Given the description of an element on the screen output the (x, y) to click on. 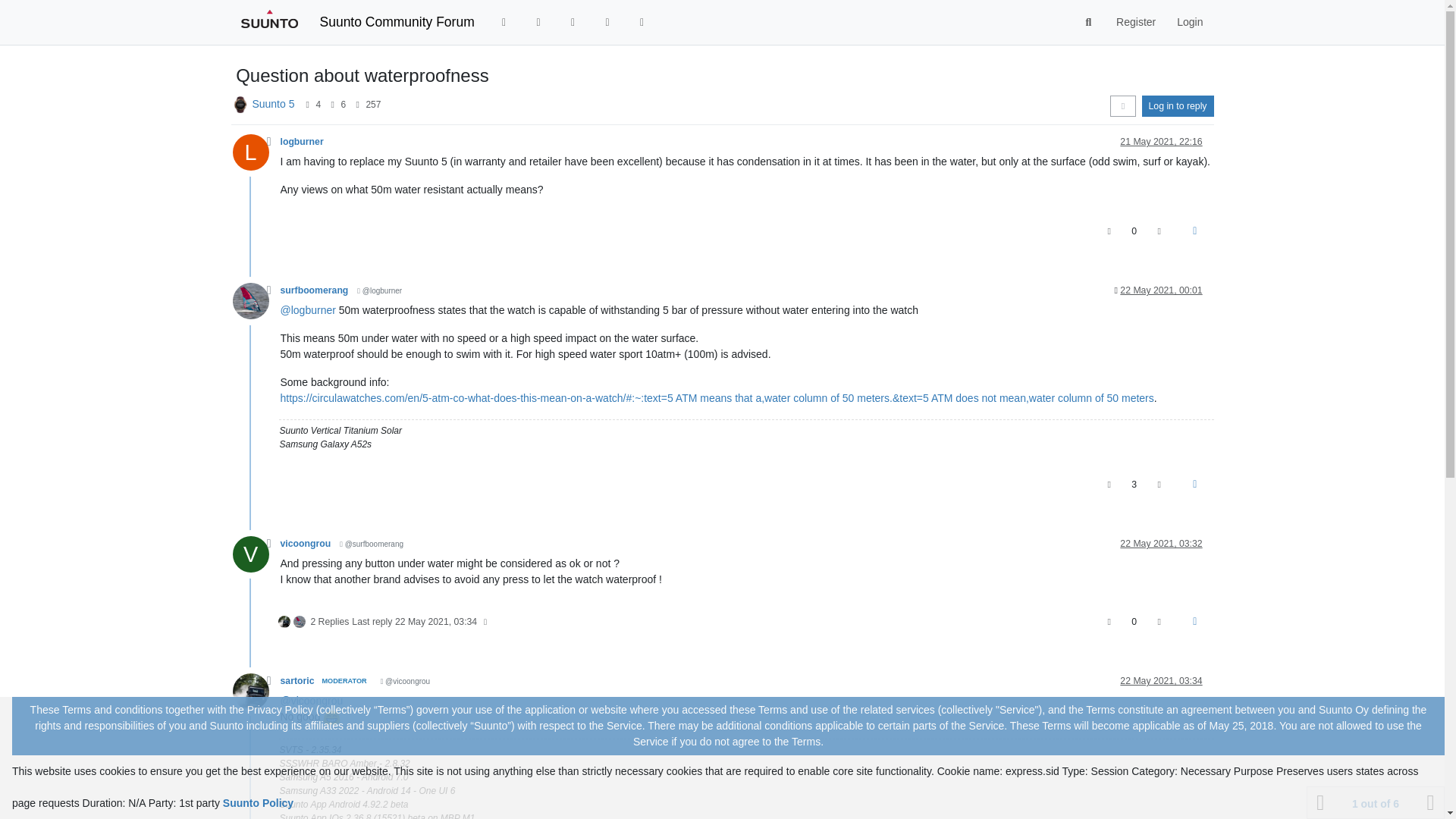
Tags (538, 22)
21 May 2021, 22:16 (1160, 141)
Search (1088, 22)
Groups (641, 22)
Popular (573, 22)
logburner (302, 141)
Suunto 5 (272, 103)
Posters (307, 103)
Login (1189, 22)
Recent (503, 22)
Log in to reply (1177, 106)
L (255, 155)
Suunto Community Forum (397, 22)
Register (1135, 22)
Users (606, 22)
